Given the description of an element on the screen output the (x, y) to click on. 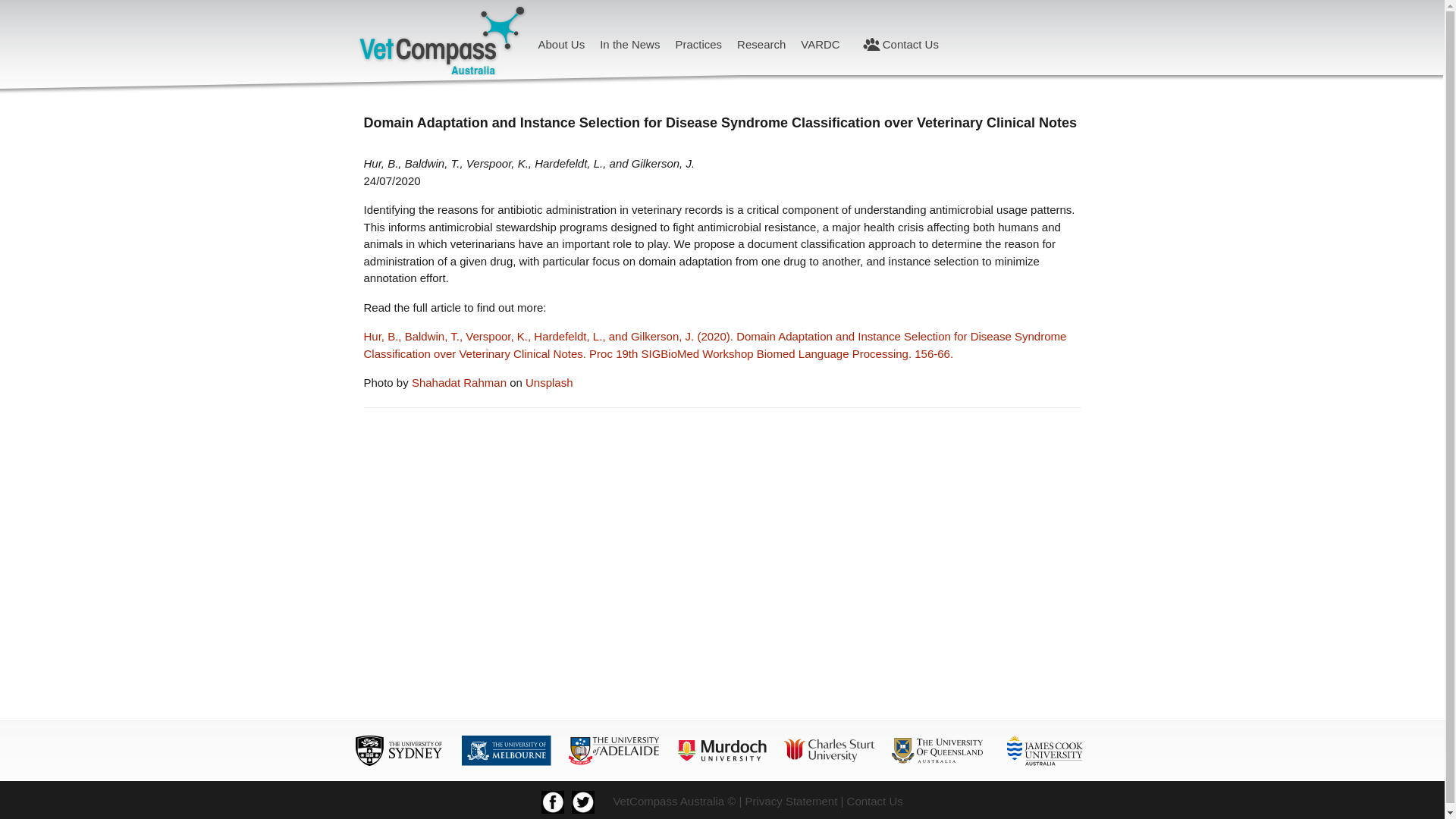
About Us (561, 44)
In the News (629, 44)
Practices (697, 44)
In the News (629, 44)
Research (761, 44)
About Us (561, 44)
